Given the description of an element on the screen output the (x, y) to click on. 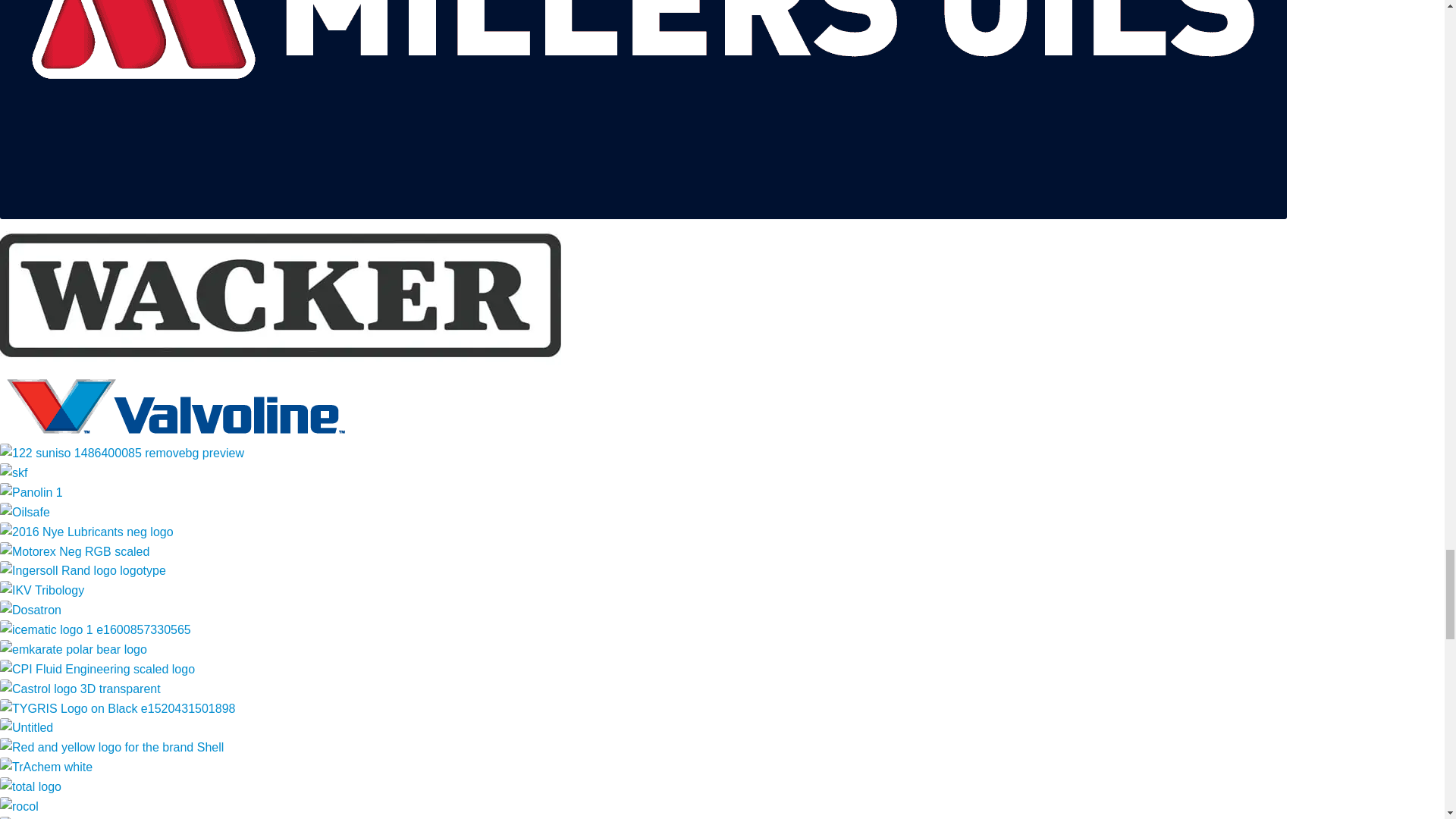
WACKER (280, 293)
Valvoline (178, 405)
